Given the description of an element on the screen output the (x, y) to click on. 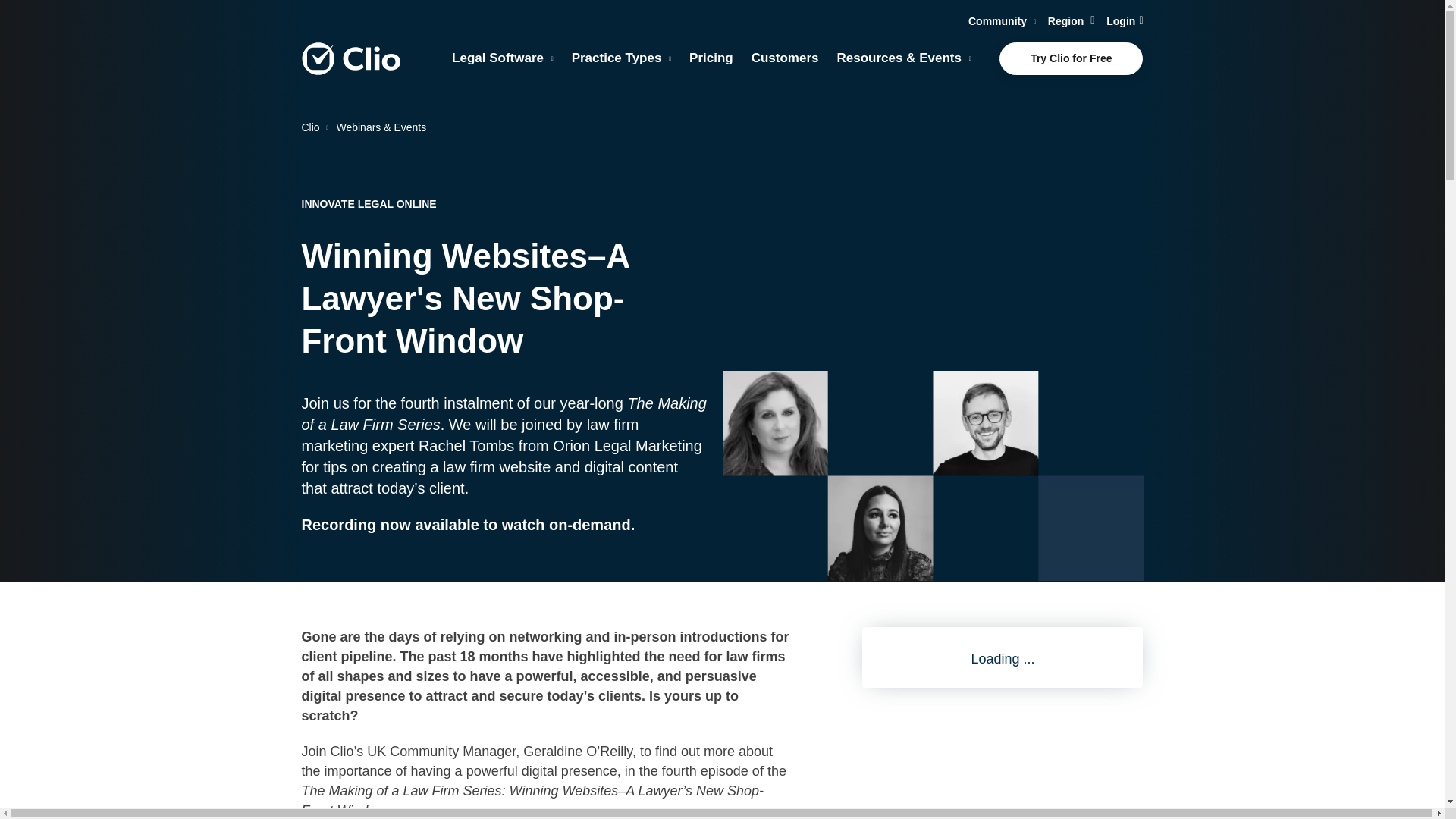
Region (1071, 21)
Legal Software (502, 58)
Community (1001, 21)
clio-logo (350, 59)
Login (1124, 21)
